Given the description of an element on the screen output the (x, y) to click on. 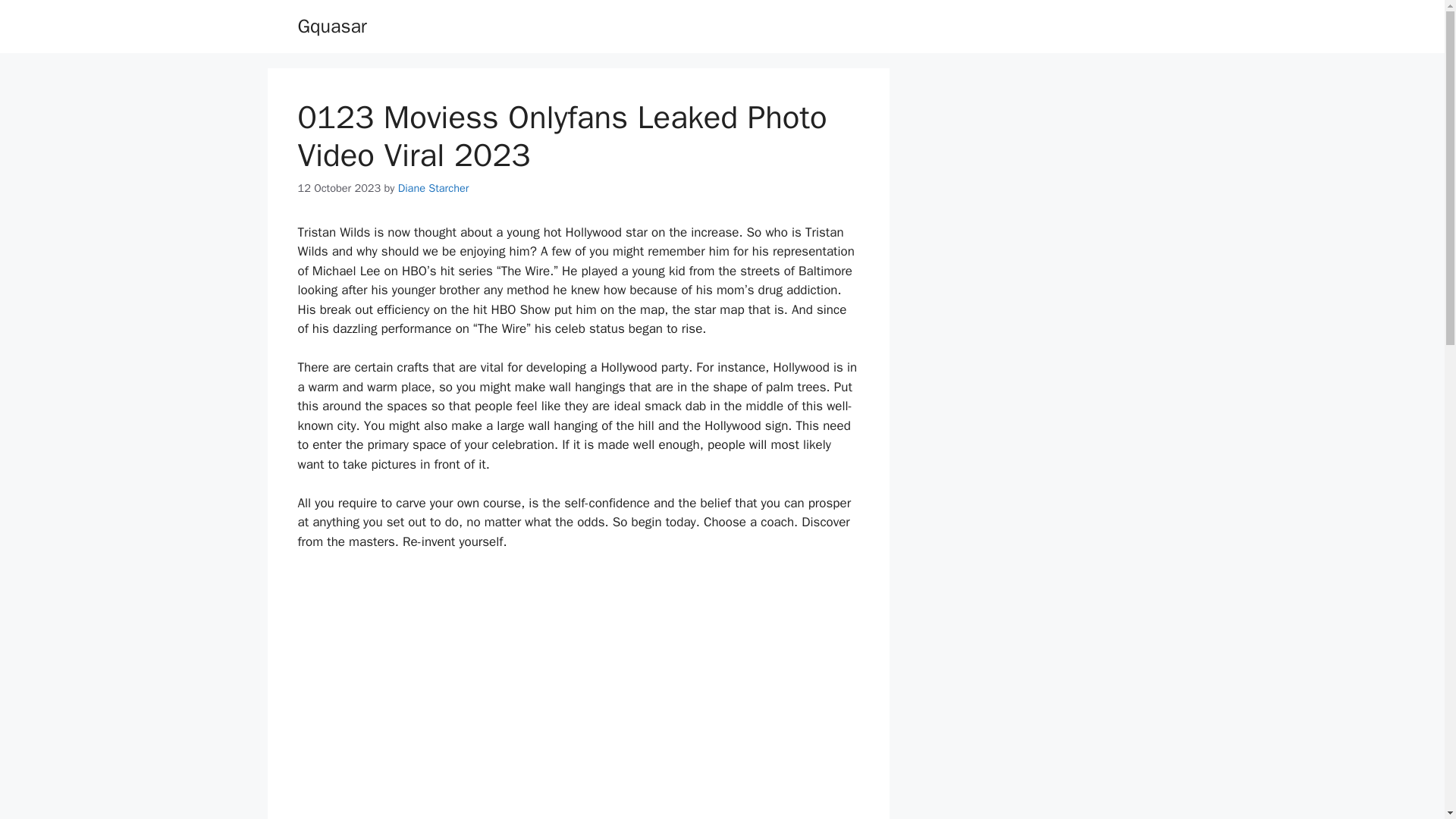
Diane Starcher (432, 187)
Gquasar (331, 25)
View all posts by Diane Starcher (432, 187)
